Given the description of an element on the screen output the (x, y) to click on. 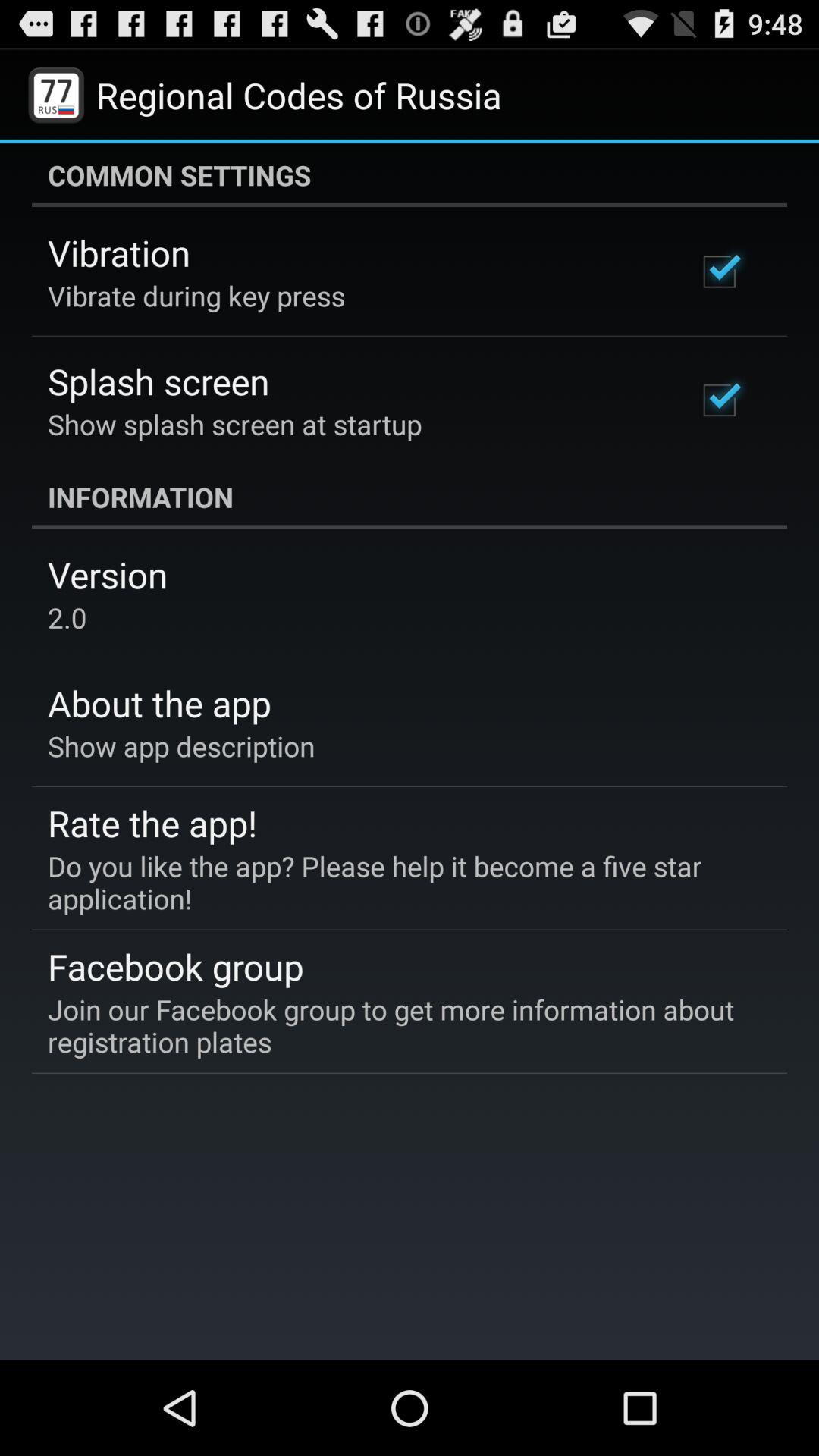
click the item above splash screen icon (196, 295)
